Given the description of an element on the screen output the (x, y) to click on. 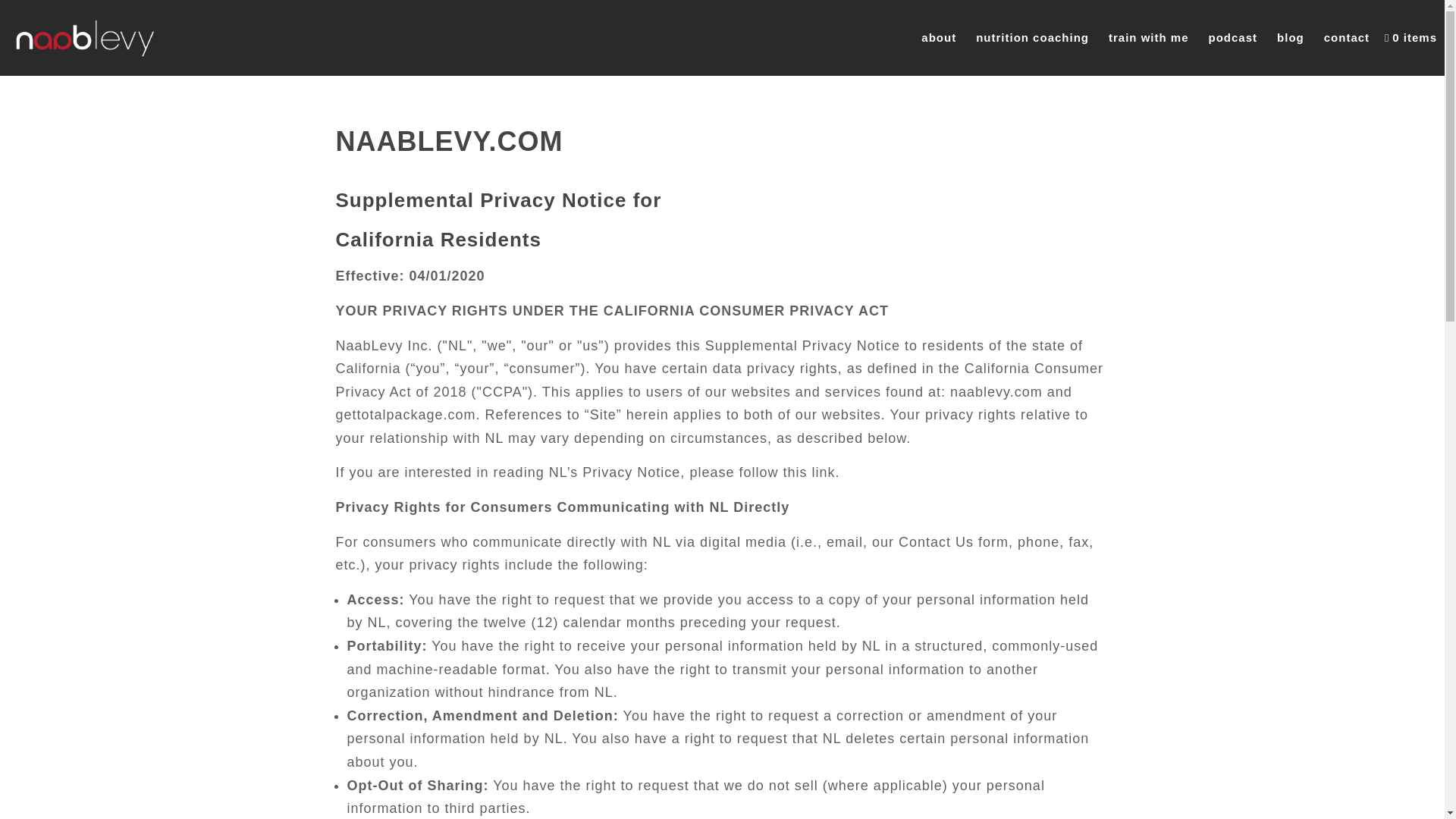
please follow this link. (764, 472)
train with me (1148, 38)
nutrition coaching (1032, 38)
